Given the description of an element on the screen output the (x, y) to click on. 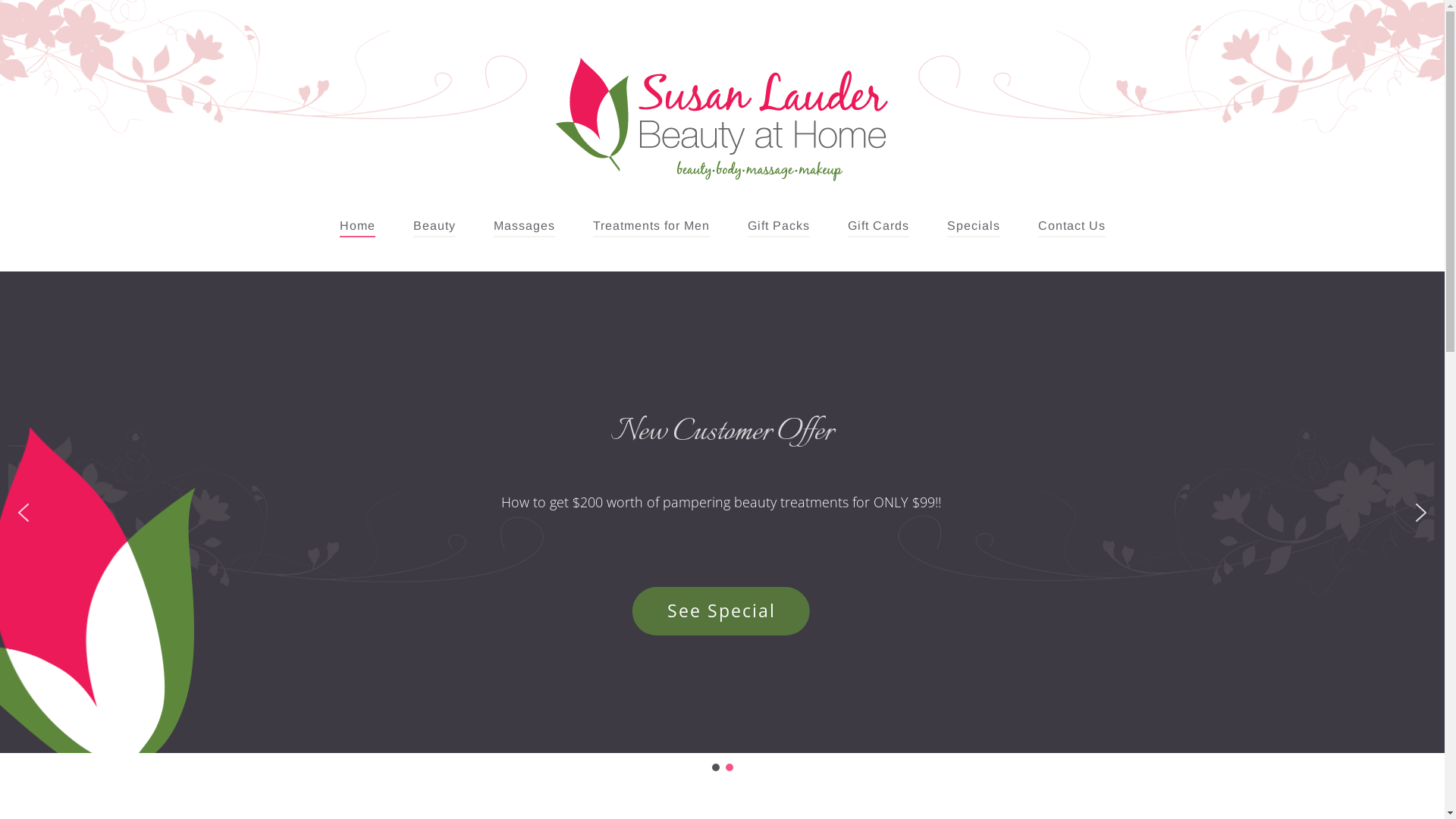
Massages Element type: text (523, 225)
Home Element type: text (357, 225)
Gift Packs Element type: text (778, 225)
Treatments for Men Element type: text (651, 225)
Beauty Element type: text (433, 225)
See Special Element type: text (720, 610)
Contact Us Element type: text (1070, 225)
Specials Element type: text (972, 225)
Gift Cards Element type: text (878, 225)
